Given the description of an element on the screen output the (x, y) to click on. 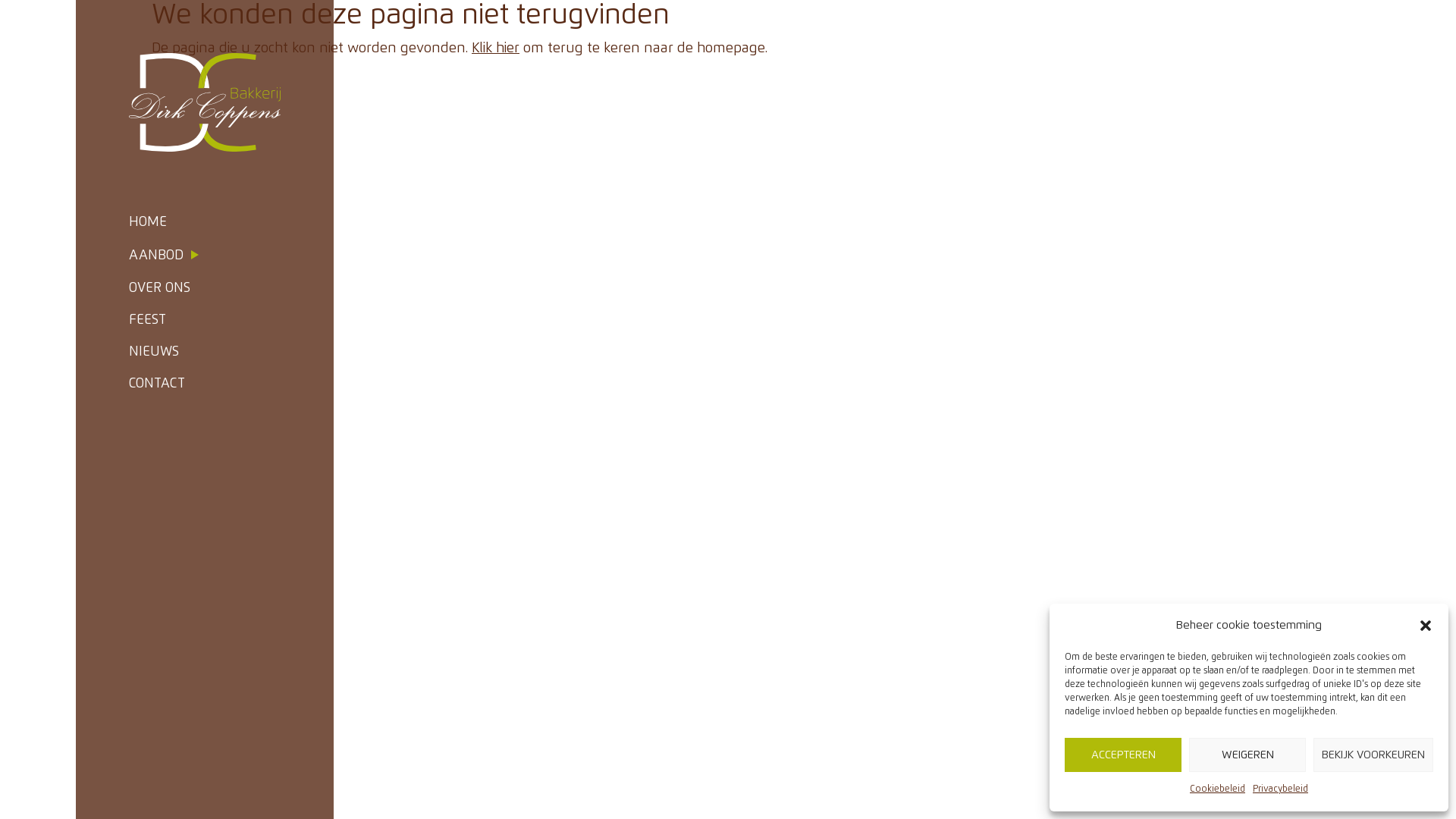
HOME Element type: text (204, 222)
WEIGEREN Element type: text (1247, 754)
FEEST Element type: text (204, 320)
CONTACT Element type: text (204, 383)
OVER ONS Element type: text (204, 288)
AANBOD Element type: text (204, 255)
NIEUWS Element type: text (204, 352)
Cookiebeleid Element type: text (1217, 789)
Privacybeleid Element type: text (1280, 789)
Klik hier Element type: text (495, 48)
BEKIJK VOORKEUREN Element type: text (1373, 754)
ACCEPTEREN Element type: text (1122, 754)
